Given the description of an element on the screen output the (x, y) to click on. 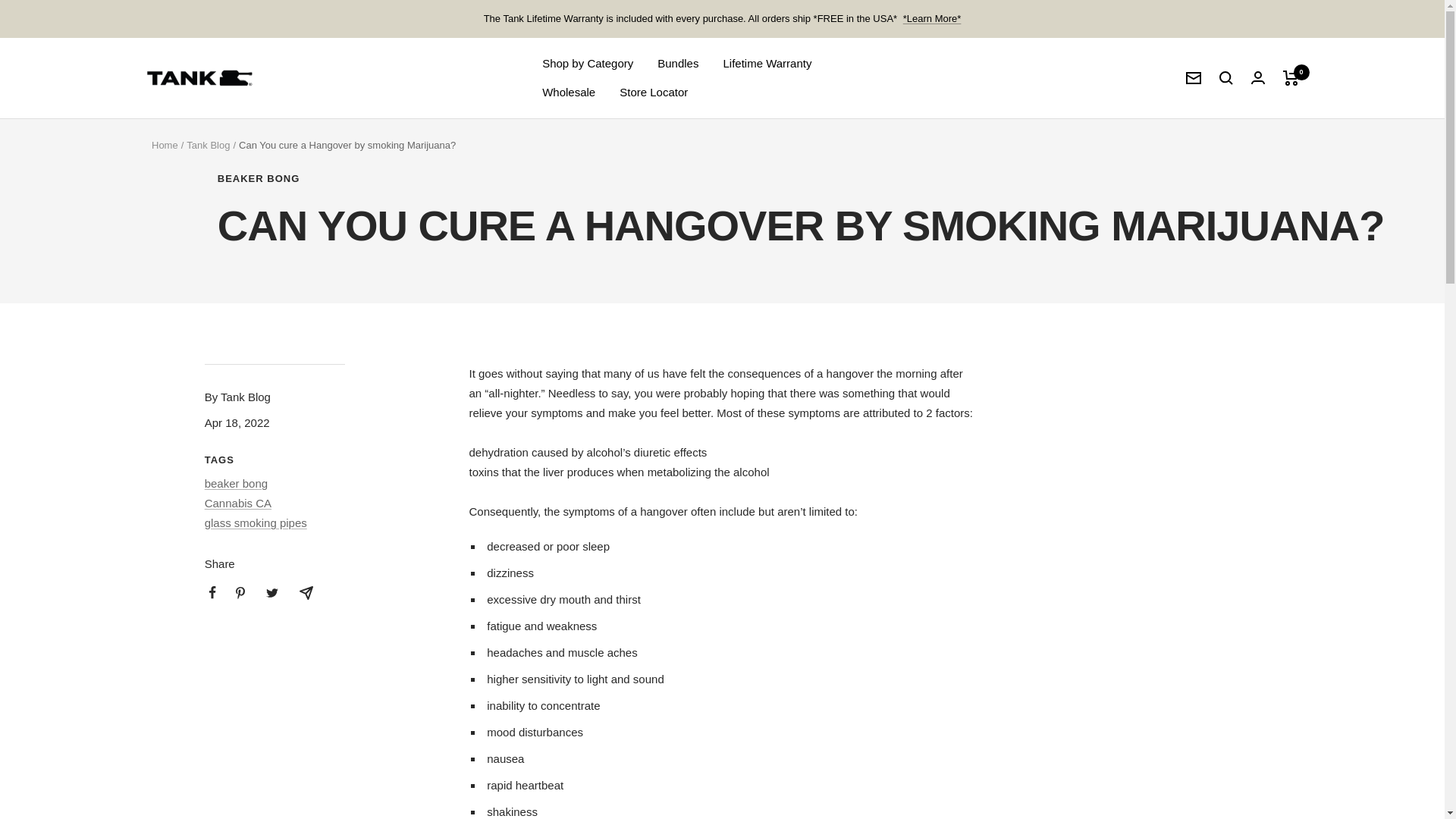
beaker bong (236, 482)
Shop by Category (587, 63)
Newsletter (1193, 78)
Bundles (678, 63)
Home (164, 144)
Lifetime Warranty (766, 63)
Cannabis CA (237, 502)
Wholesale (568, 92)
Store Locator (653, 92)
glass smoking pipes (256, 522)
0 (1290, 77)
Tank Blog (208, 144)
